Given the description of an element on the screen output the (x, y) to click on. 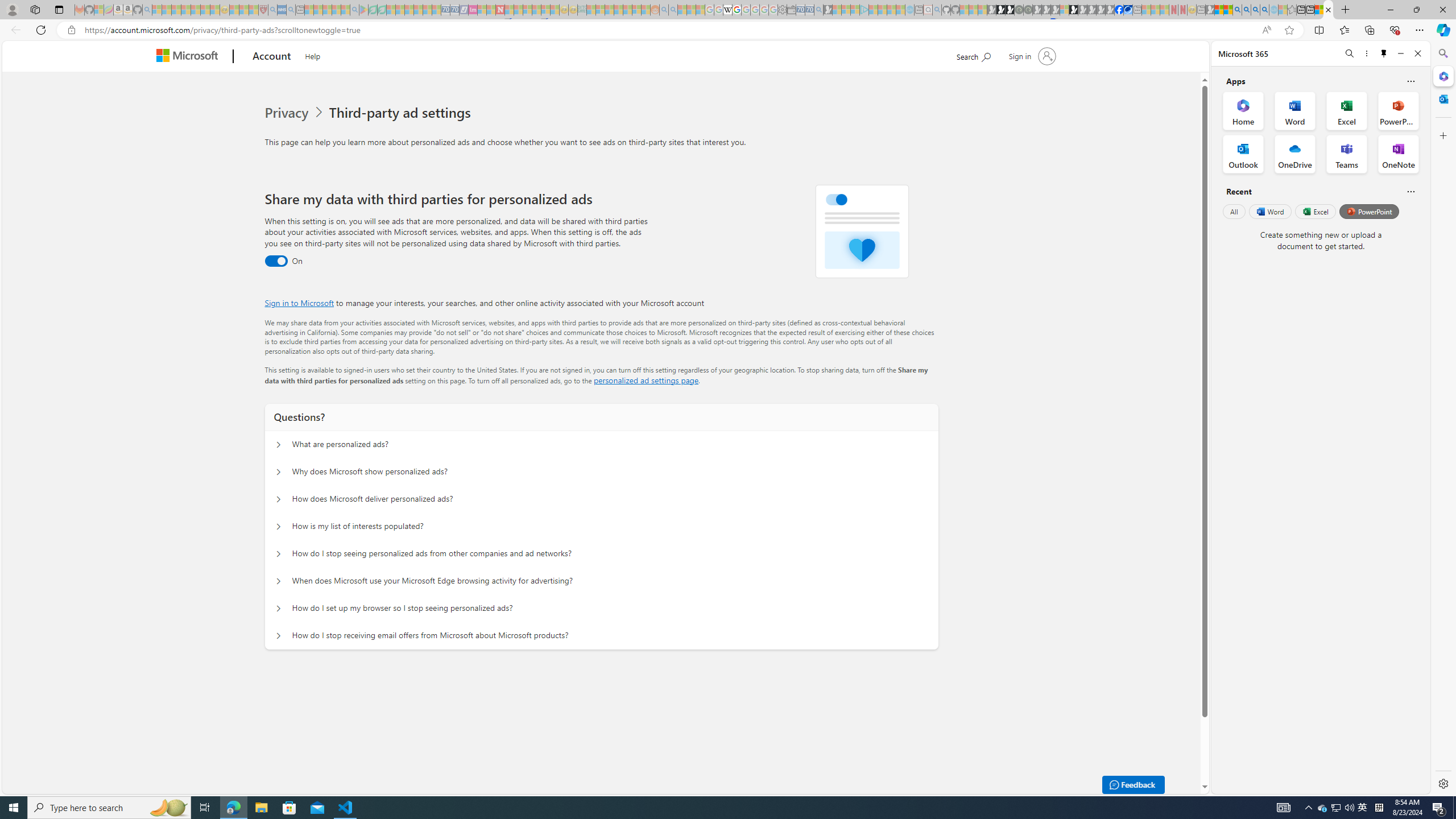
Home Office App (1243, 110)
Word (1269, 210)
PowerPoint Office App (1398, 110)
